Given the description of an element on the screen output the (x, y) to click on. 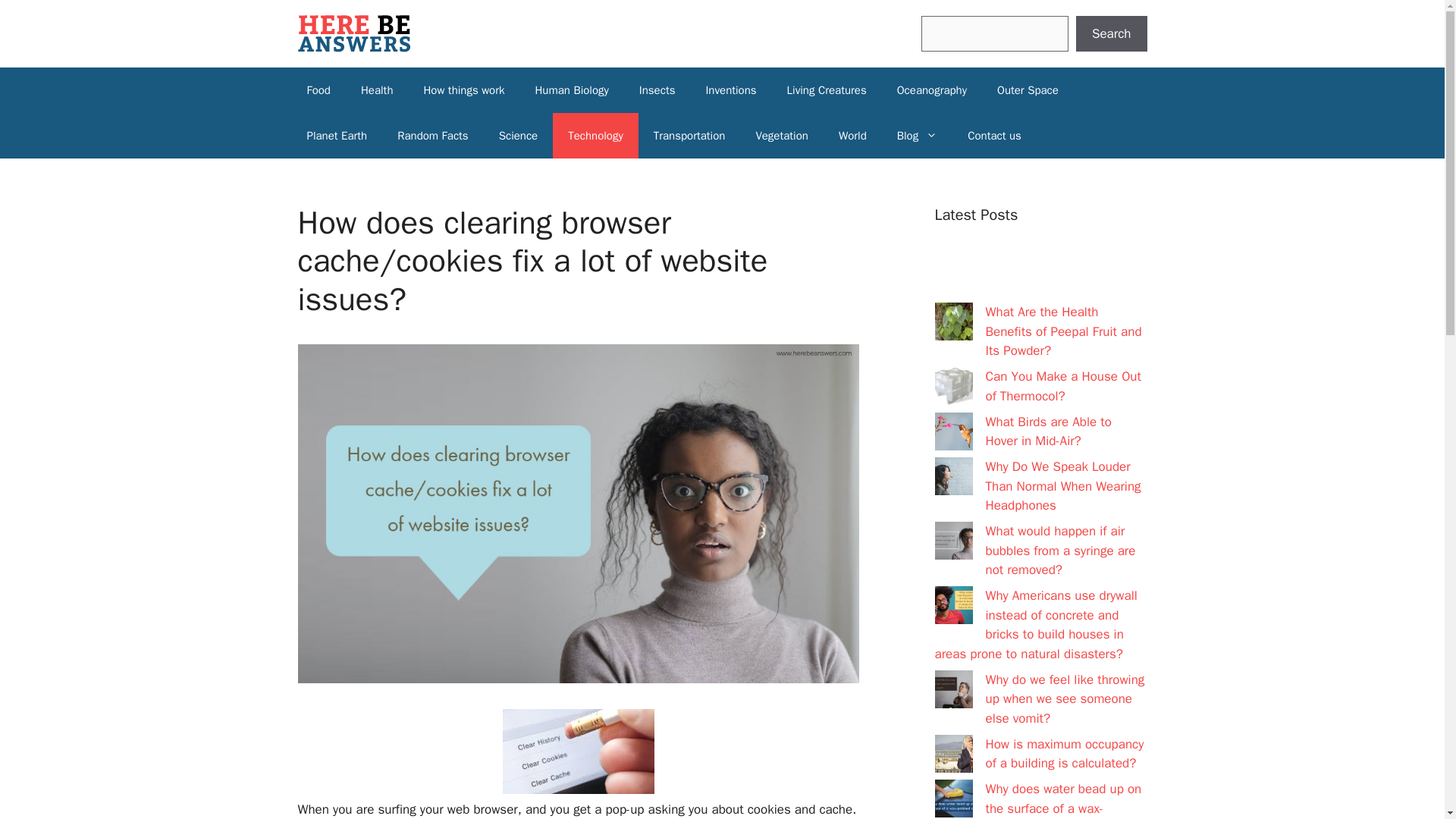
Search (1111, 33)
Contact us (994, 135)
Insects (657, 90)
Living Creatures (826, 90)
Can You Make a House Out of Thermocol? (1063, 386)
Technology (596, 135)
Human Biology (571, 90)
World (853, 135)
